Given the description of an element on the screen output the (x, y) to click on. 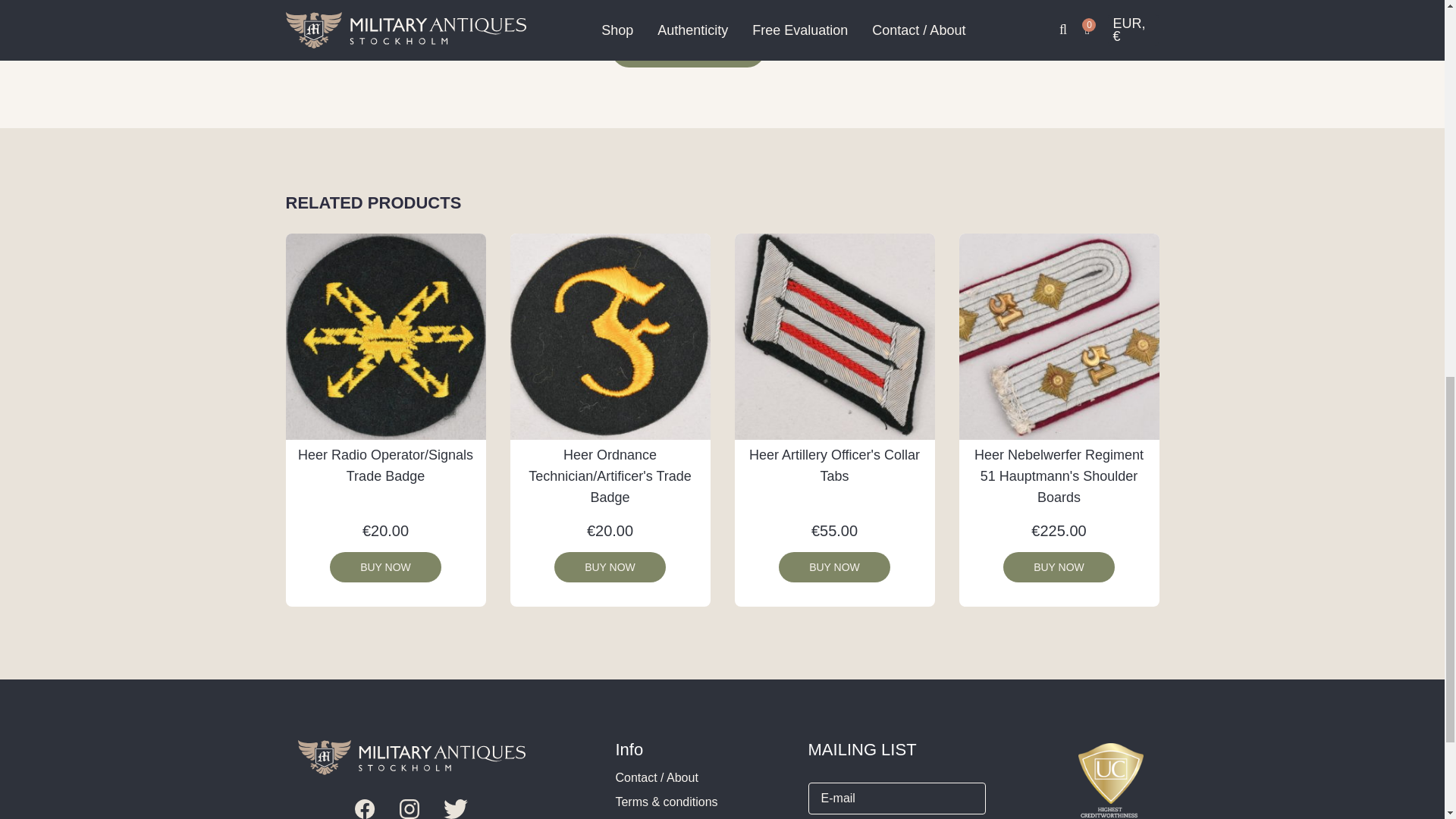
ADD TO CART (688, 49)
BUY NOW (385, 567)
